Given the description of an element on the screen output the (x, y) to click on. 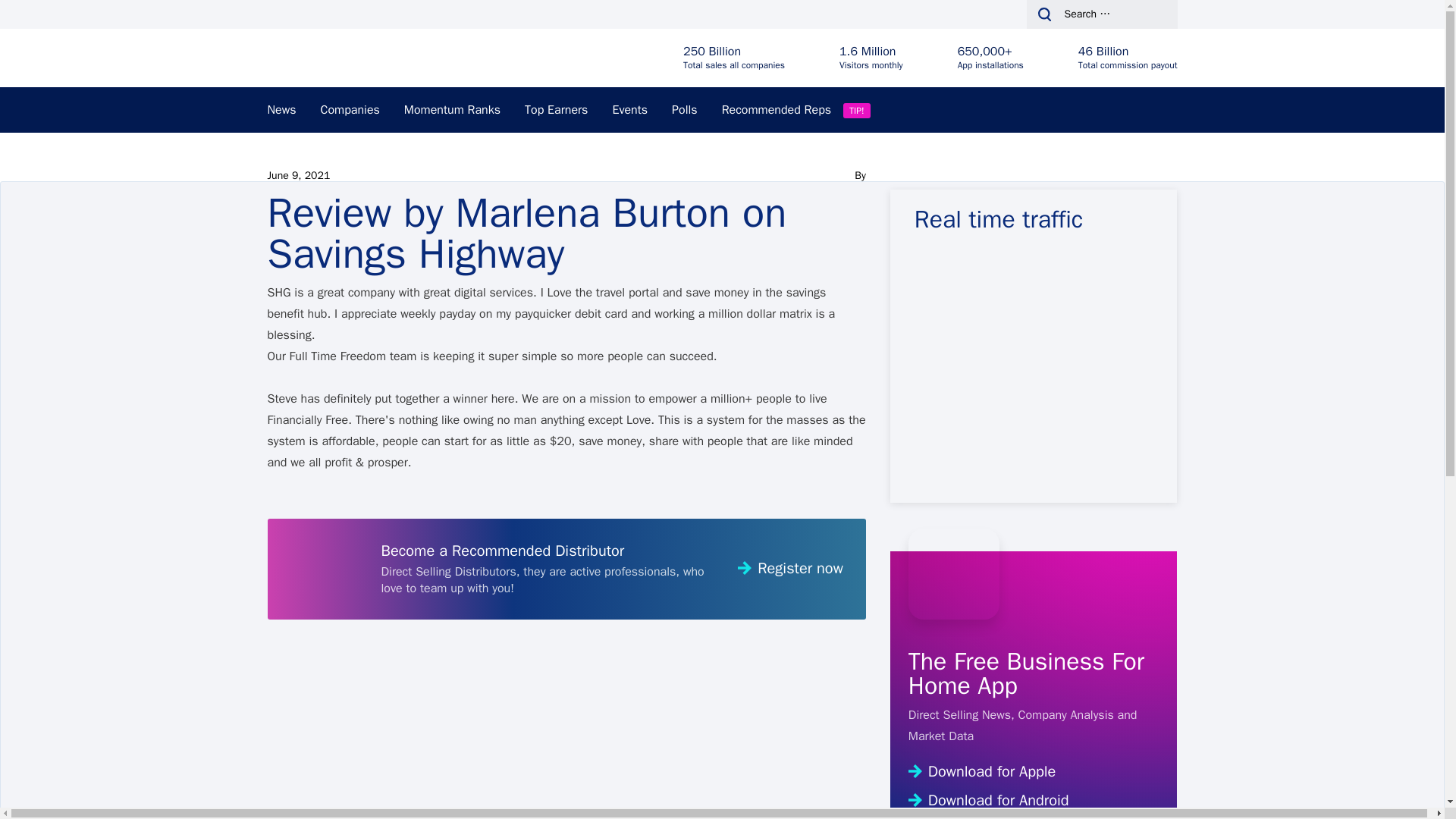
Search (41, 17)
News (280, 108)
Companies (349, 108)
Momentum Ranks (451, 108)
